Given the description of an element on the screen output the (x, y) to click on. 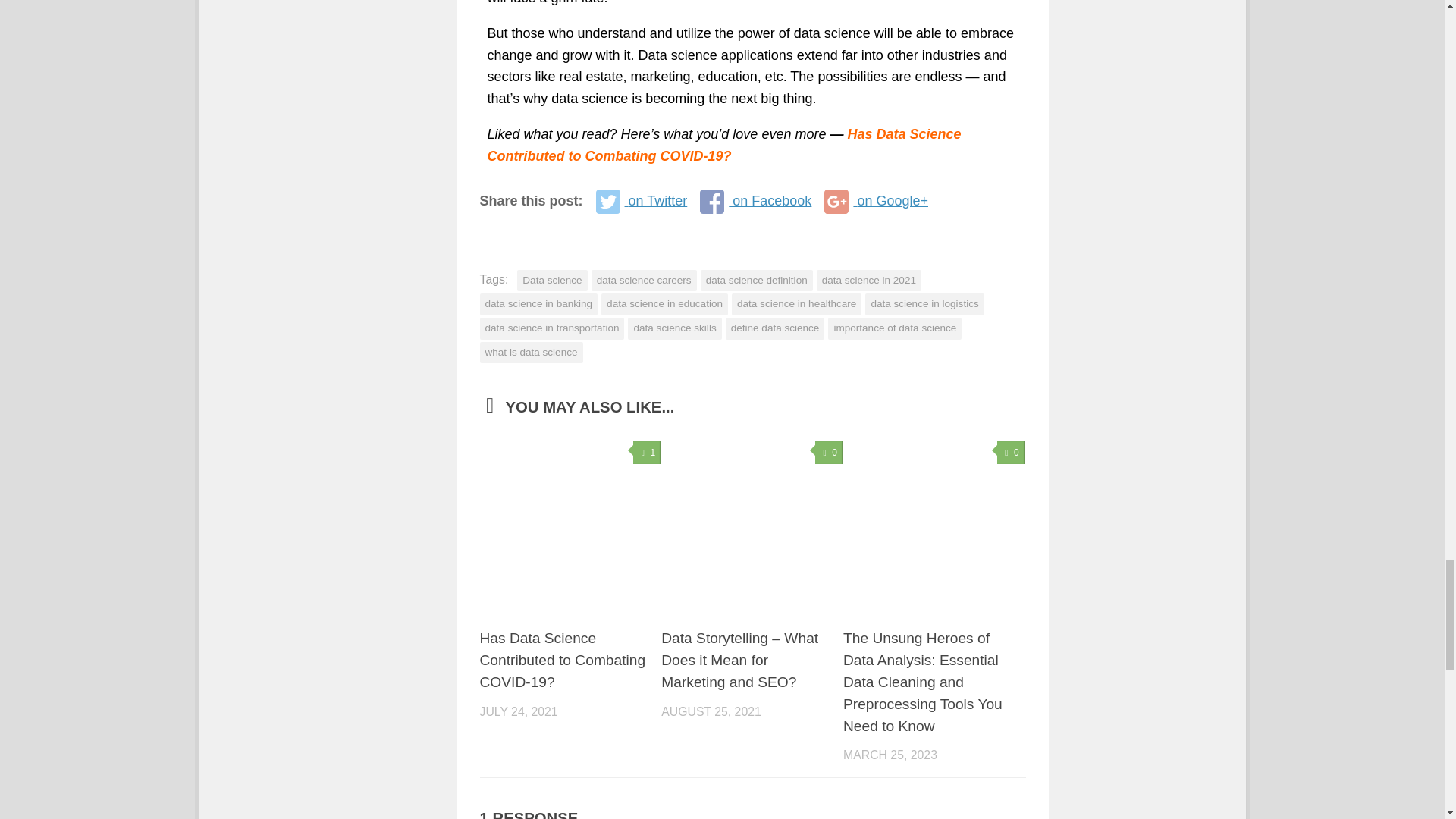
on Facebook (755, 201)
Data science (551, 280)
data science in transportation (551, 328)
data science in healthcare (796, 304)
data science skills (673, 328)
data science in education (664, 304)
importance of data science (894, 328)
on Twitter (641, 201)
data science in logistics (924, 304)
data science definition (756, 280)
Has Data Science Contributed to Combating COVID-19? (723, 144)
data science in banking (537, 304)
what is data science (530, 352)
data science careers (644, 280)
define data science (775, 328)
